Given the description of an element on the screen output the (x, y) to click on. 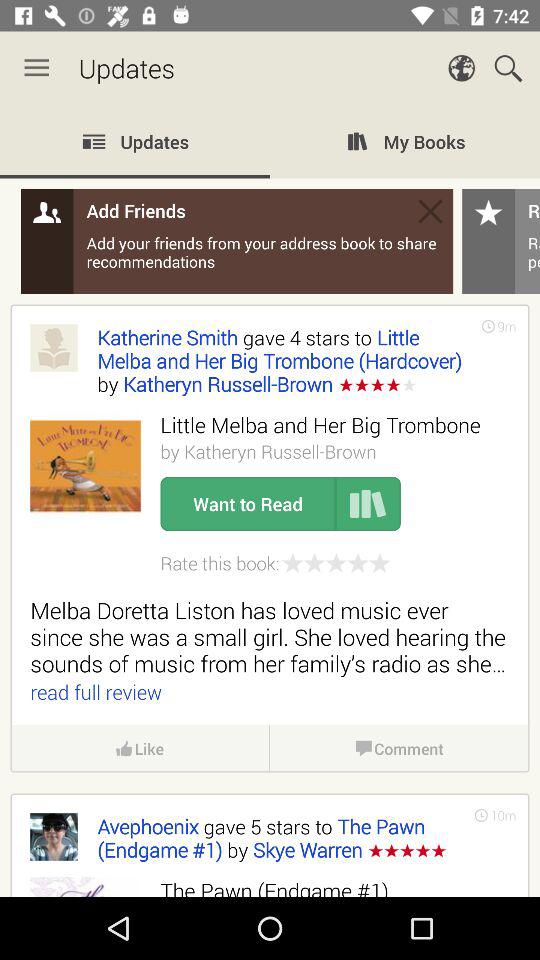
scroll to 9m (506, 326)
